Given the description of an element on the screen output the (x, y) to click on. 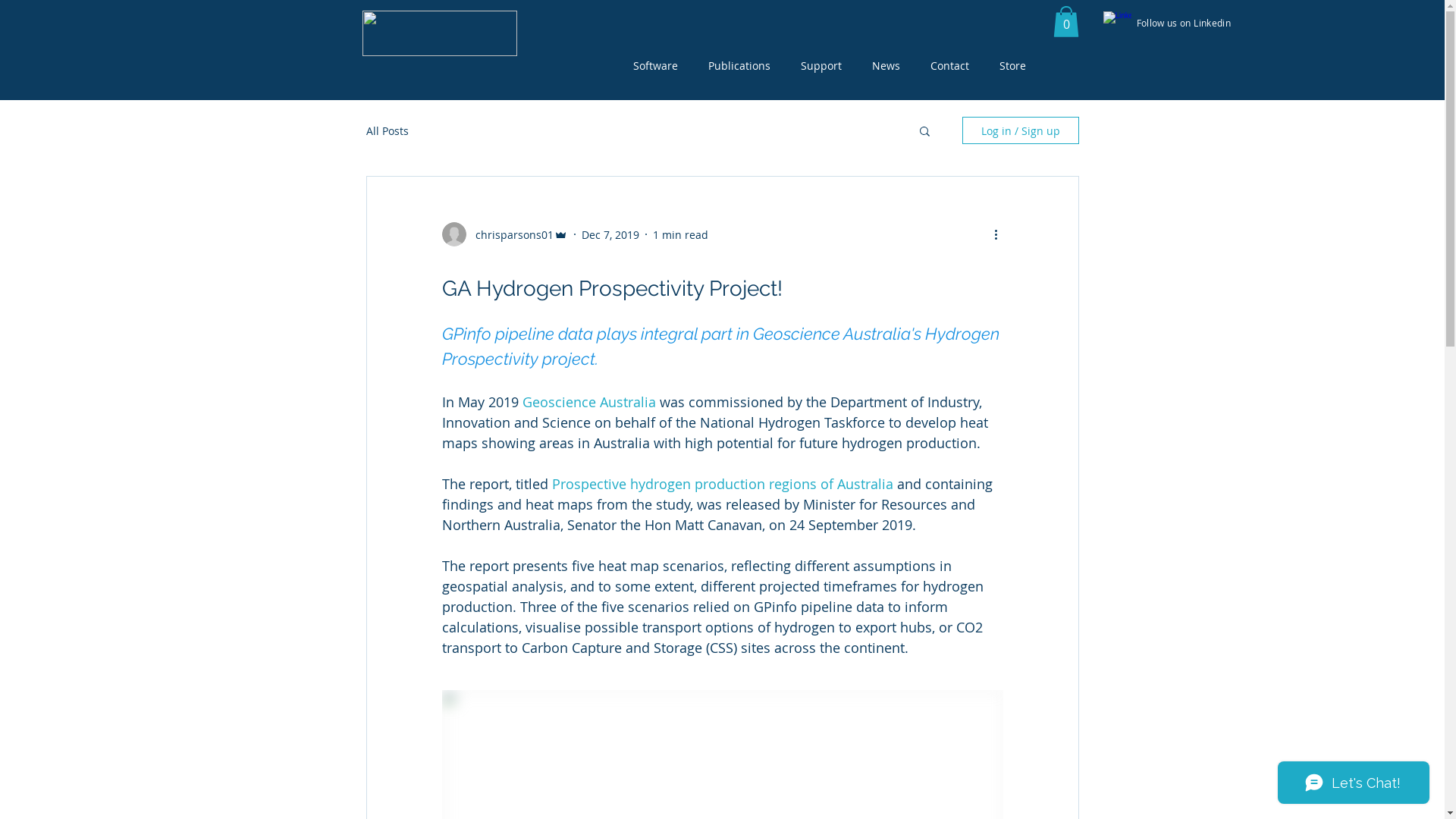
Log in / Sign up Element type: text (1019, 130)
Support Element type: text (820, 65)
Prospective hydrogen production regions of Australia Element type: text (722, 483)
Publications Element type: text (739, 65)
Store Element type: text (1012, 65)
All Posts Element type: text (386, 129)
Contact Element type: text (948, 65)
Geoscience Australia Element type: text (588, 401)
0 Element type: text (1065, 21)
News Element type: text (885, 65)
